Given the description of an element on the screen output the (x, y) to click on. 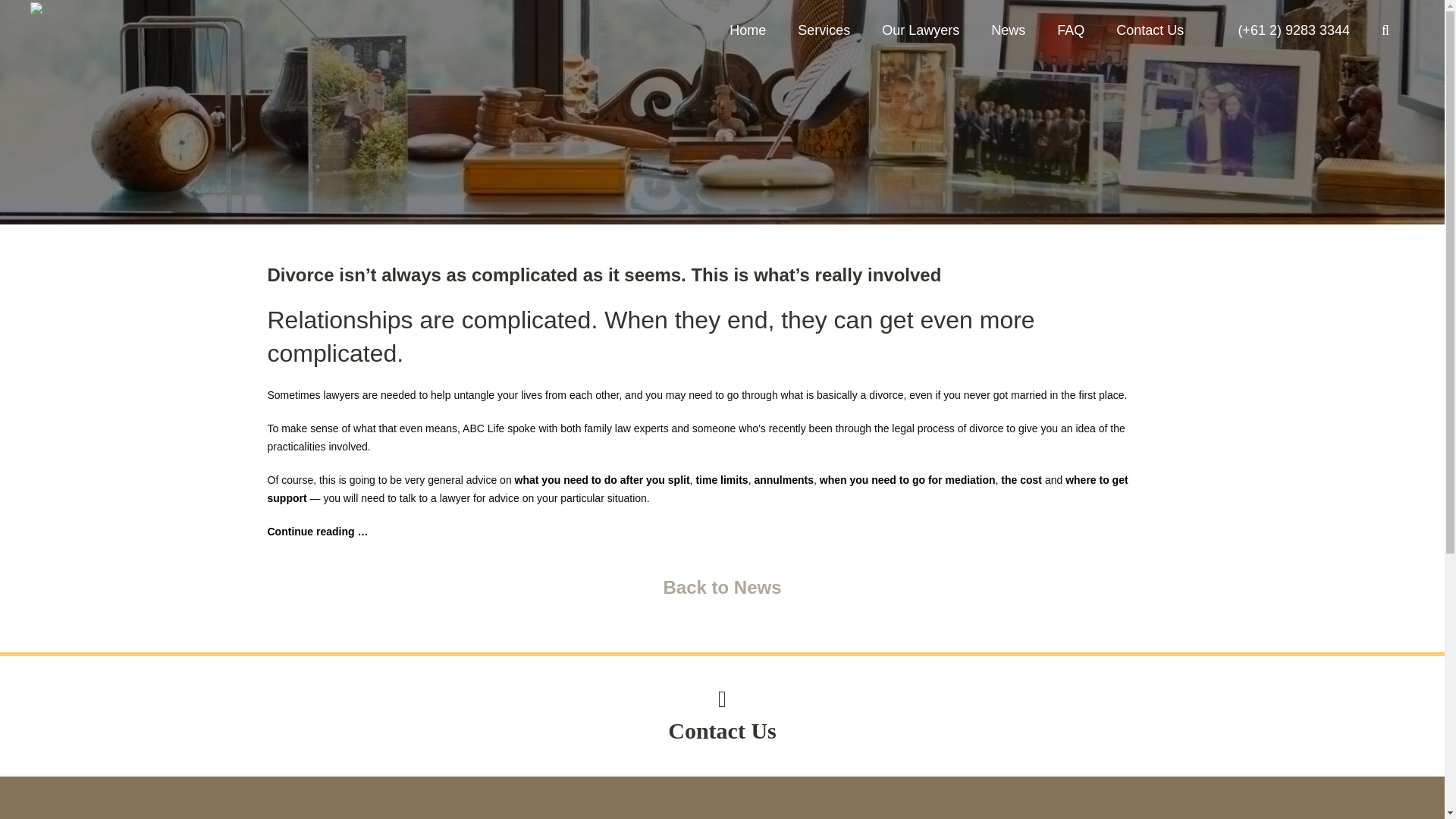
when you need to go for mediation (907, 480)
Contact Us (1149, 30)
where to get support (696, 489)
News (1008, 30)
the cost (1021, 480)
Home (747, 30)
what you need to do after you split (602, 480)
Back to News (721, 587)
annulments (783, 480)
FAQ (1070, 30)
